Given the description of an element on the screen output the (x, y) to click on. 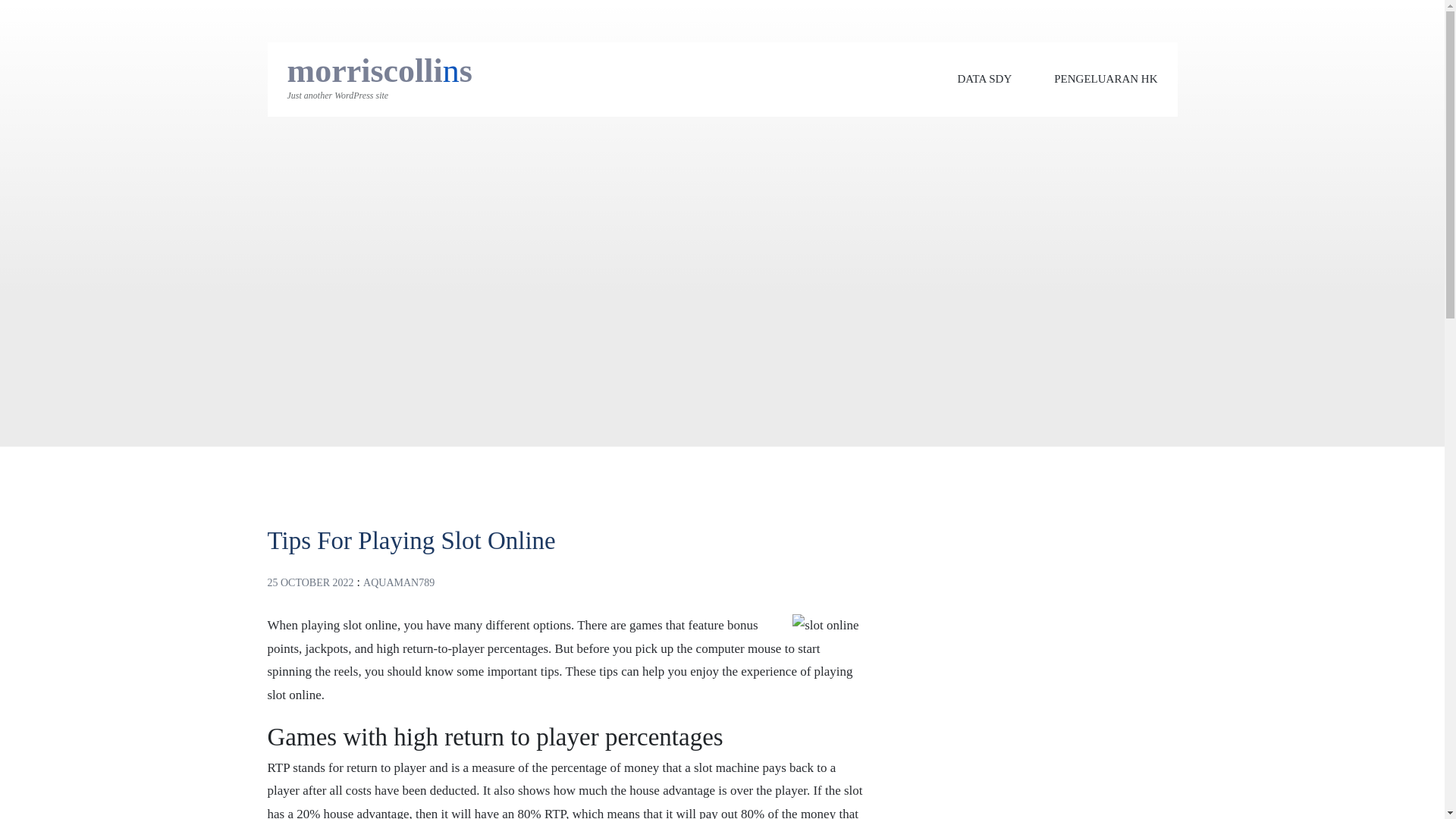
25 OCTOBER 2022 (309, 582)
morriscollins (378, 70)
DATA SDY (984, 78)
AQUAMAN789 (397, 582)
PENGELUARAN HK (1105, 78)
